Given the description of an element on the screen output the (x, y) to click on. 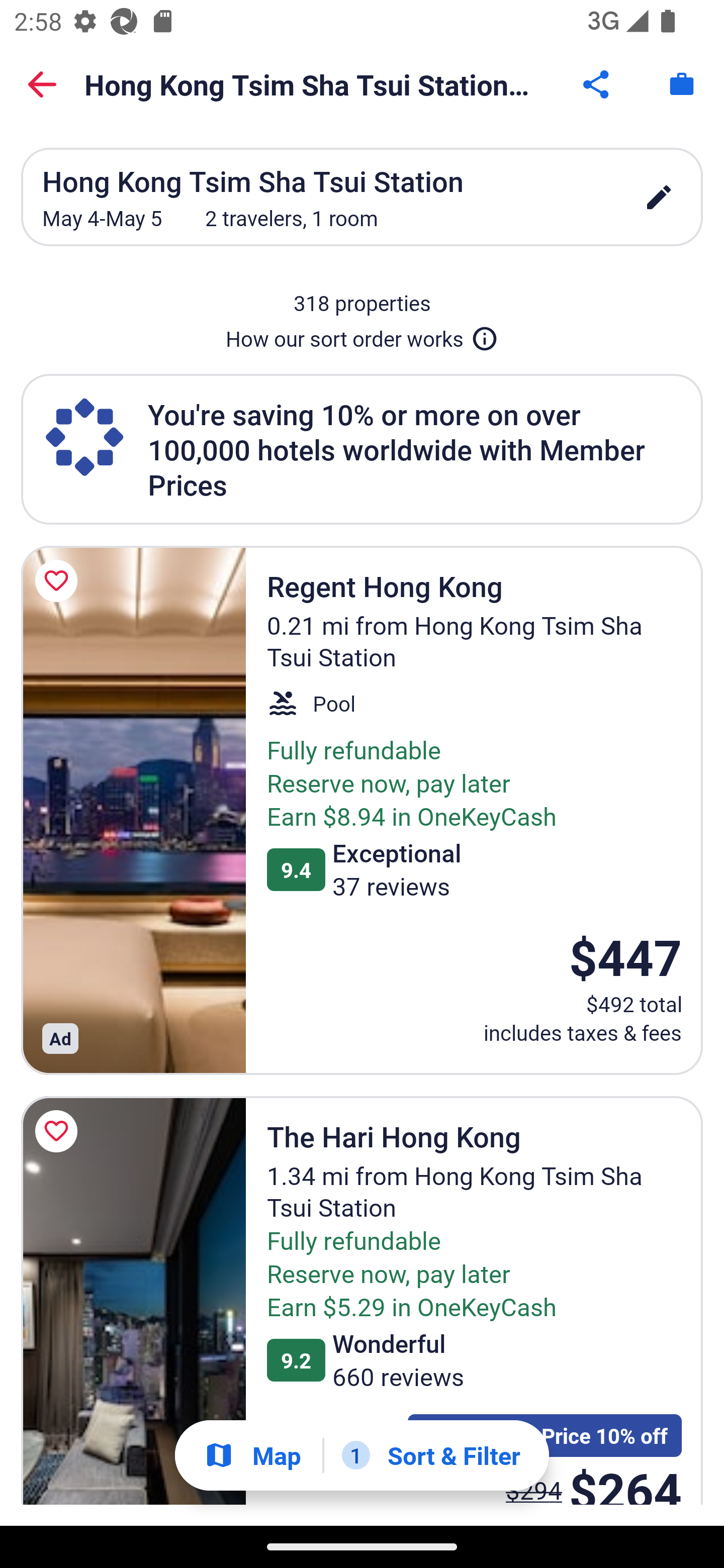
Back (42, 84)
Share Button (597, 84)
Trips. Button (681, 84)
How our sort order works (361, 334)
Save Regent Hong Kong to a trip (59, 580)
Regent Hong Kong (133, 810)
Save The Hari Hong Kong to a trip (59, 1130)
The Hari Hong Kong (133, 1300)
1 Sort & Filter 1 Filter applied. Filters Button (430, 1455)
Show map Map Show map Button (252, 1455)
